Given the description of an element on the screen output the (x, y) to click on. 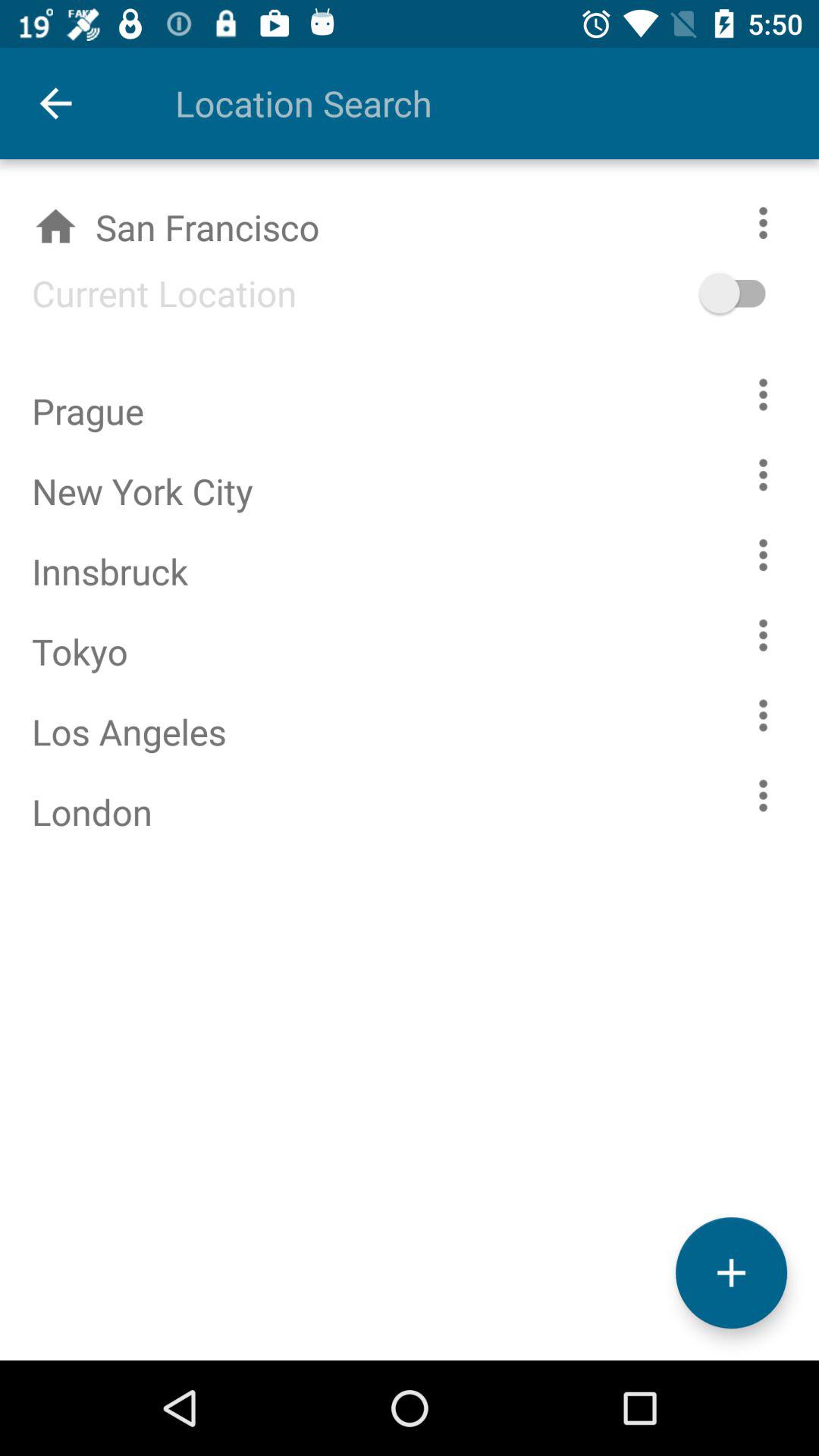
see the weather (763, 635)
